Given the description of an element on the screen output the (x, y) to click on. 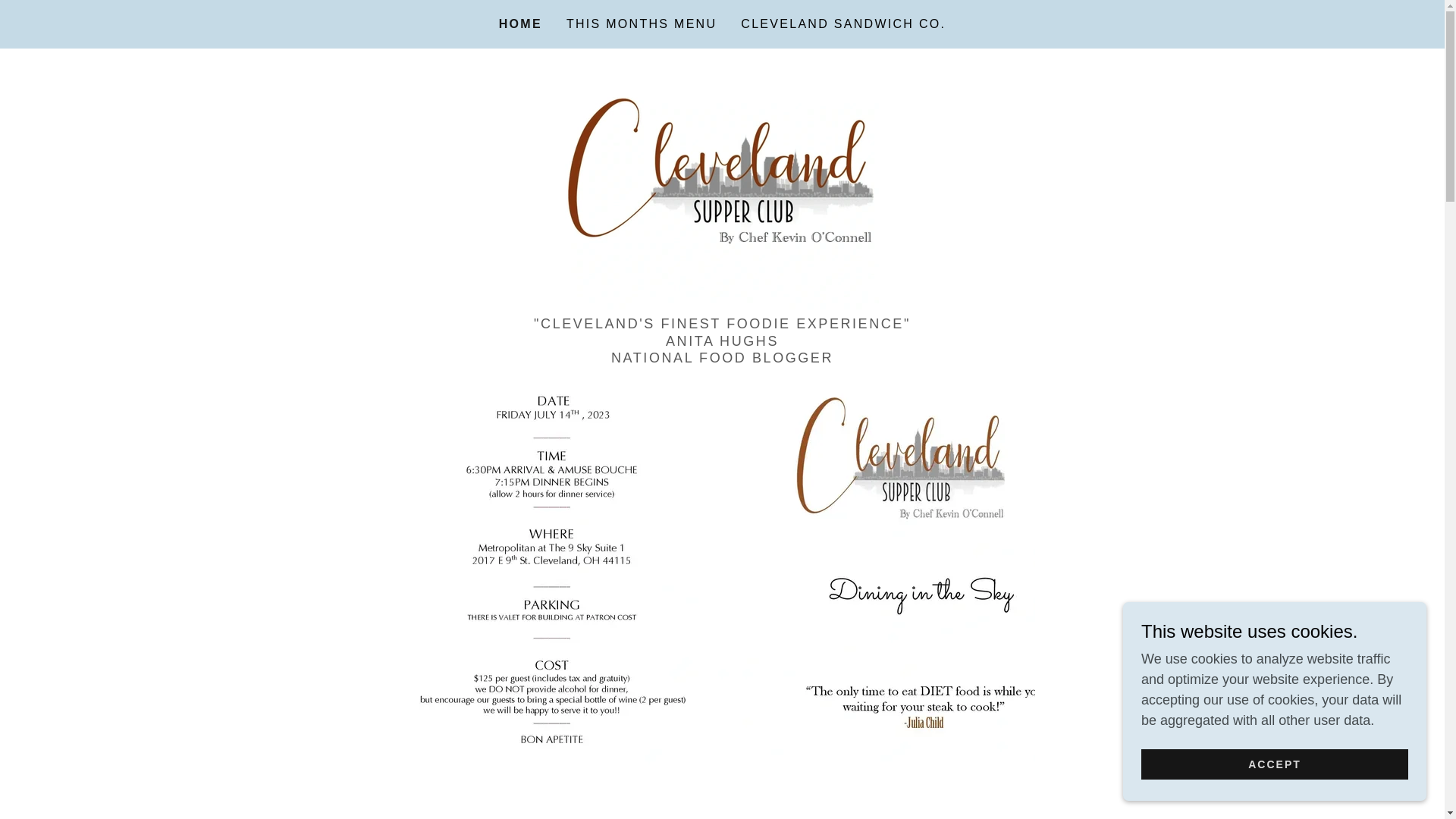
CLEVELAND SANDWICH CO. (843, 23)
ACCEPT (1274, 764)
HOME (520, 24)
THIS MONTHS MENU (641, 23)
Cleveland Supper Club (721, 186)
